Given the description of an element on the screen output the (x, y) to click on. 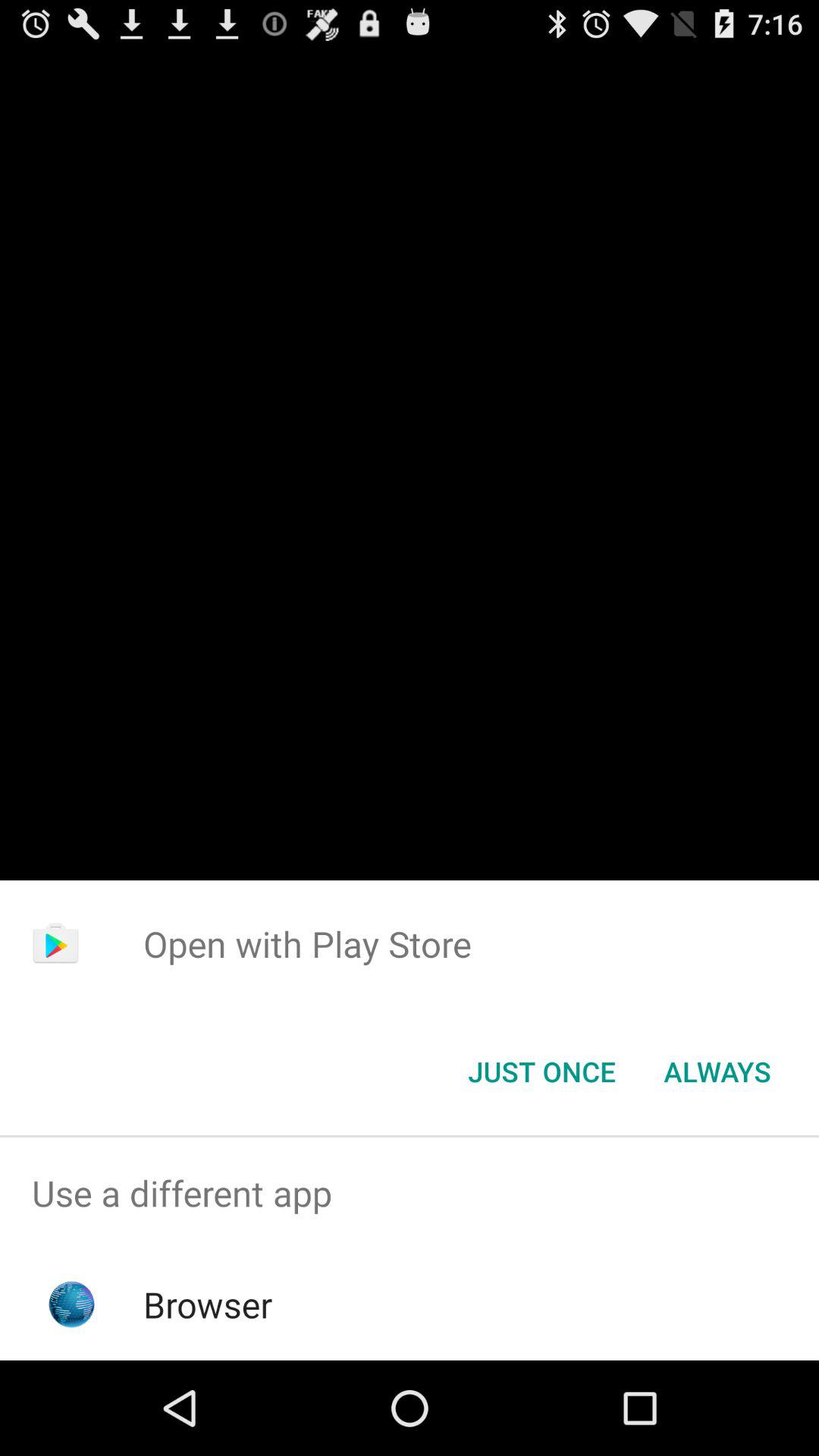
swipe to the use a different app (409, 1192)
